Given the description of an element on the screen output the (x, y) to click on. 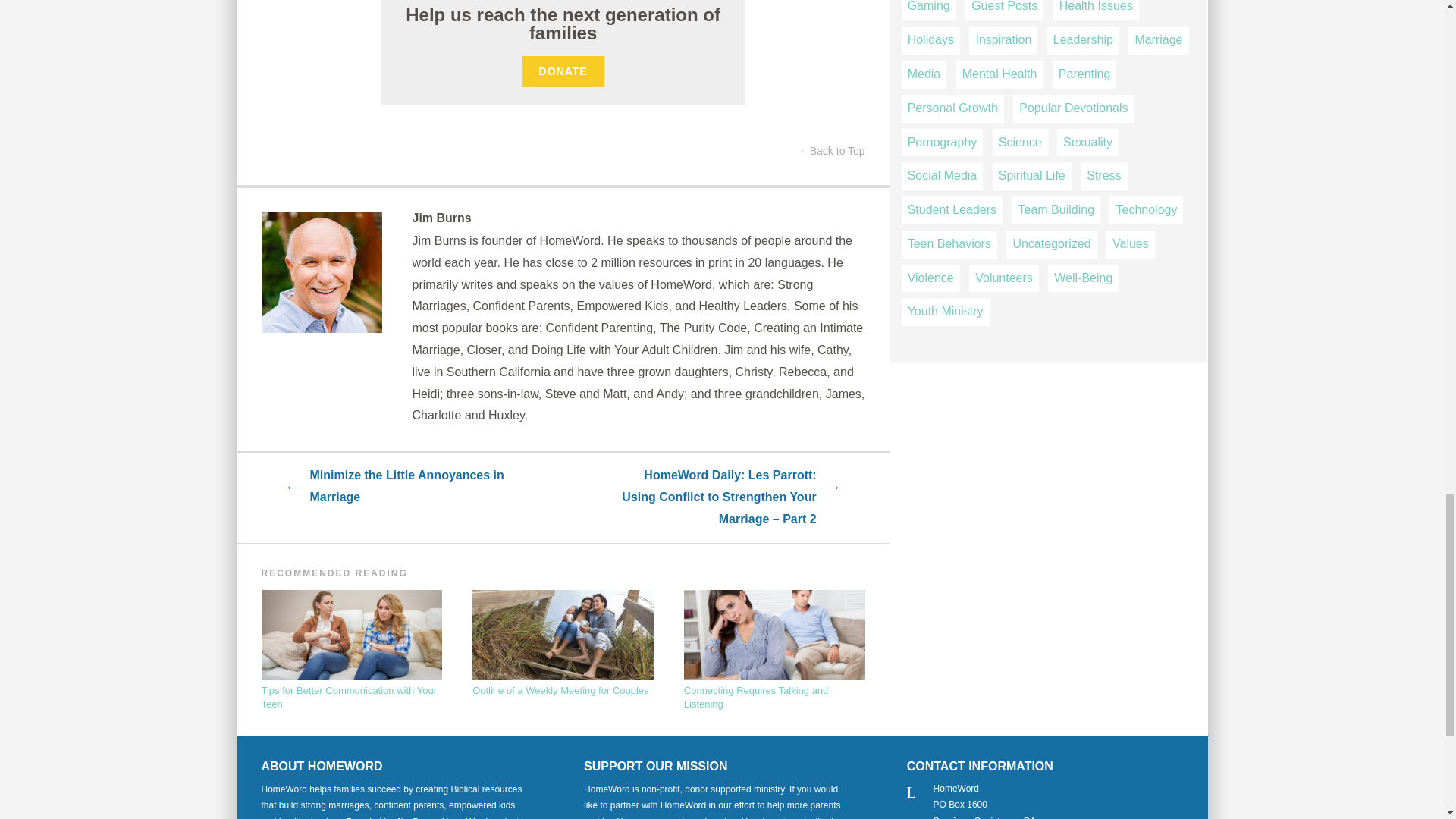
Permanent Link to Outline of a Weekly Meeting for Couples (562, 643)
Permanent Link to Connecting Requires Talking and Listening (774, 650)
